Given the description of an element on the screen output the (x, y) to click on. 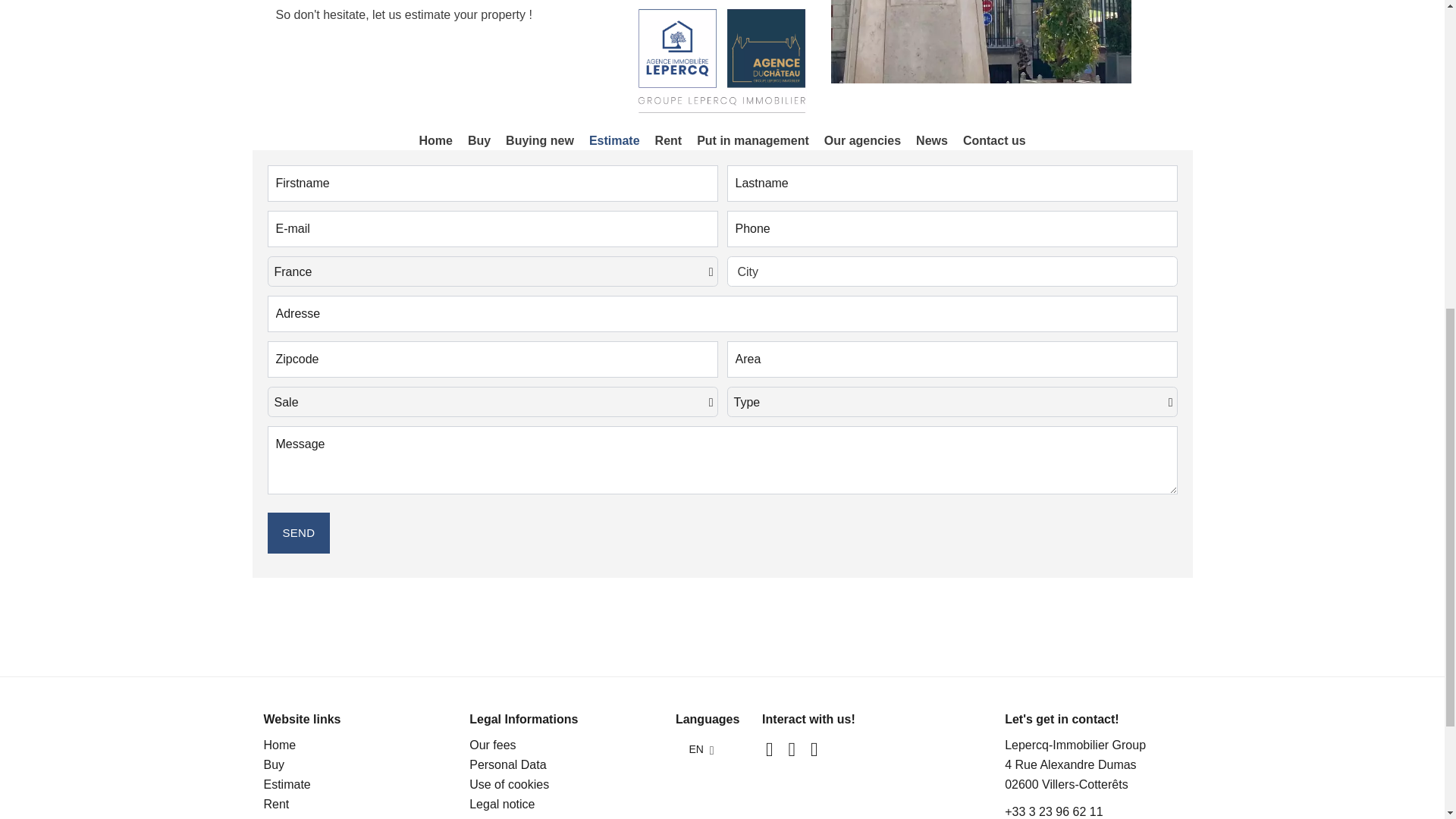
Our fees (491, 744)
Legal notice (501, 803)
Personal Data (507, 764)
En (707, 748)
Type (952, 401)
Rent (276, 803)
Use of cookies (508, 784)
Sale (492, 401)
France (492, 271)
Lepercq-Immobilier Group (1074, 744)
Buy (274, 764)
SEND (298, 532)
Home (280, 744)
Estimate (287, 784)
